Given the description of an element on the screen output the (x, y) to click on. 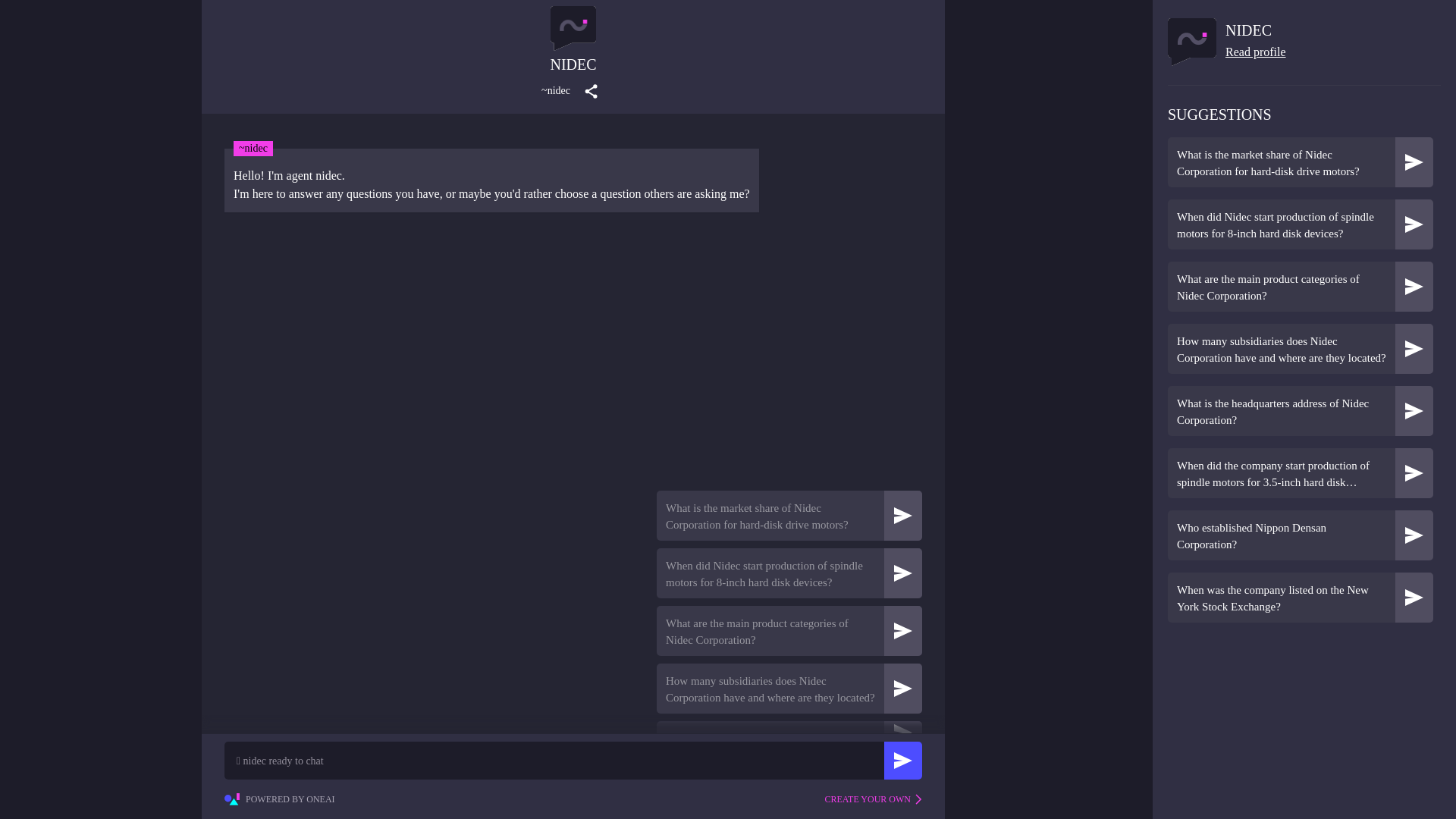
What are the main product categories of Nidec Corporation? (788, 631)
Who established Nippon Densan Corporation? (1299, 535)
What is the headquarters address of Nidec Corporation? (1299, 410)
What are the main product categories of Nidec Corporation? (1281, 287)
What are the main product categories of Nidec Corporation? (1299, 286)
When was the company listed on the New York Stock Exchange? (1299, 597)
Who established Nippon Densan Corporation? (1281, 535)
What are the main product categories of Nidec Corporation? (770, 631)
What is the headquarters address of Nidec Corporation? (1281, 411)
